Given the description of an element on the screen output the (x, y) to click on. 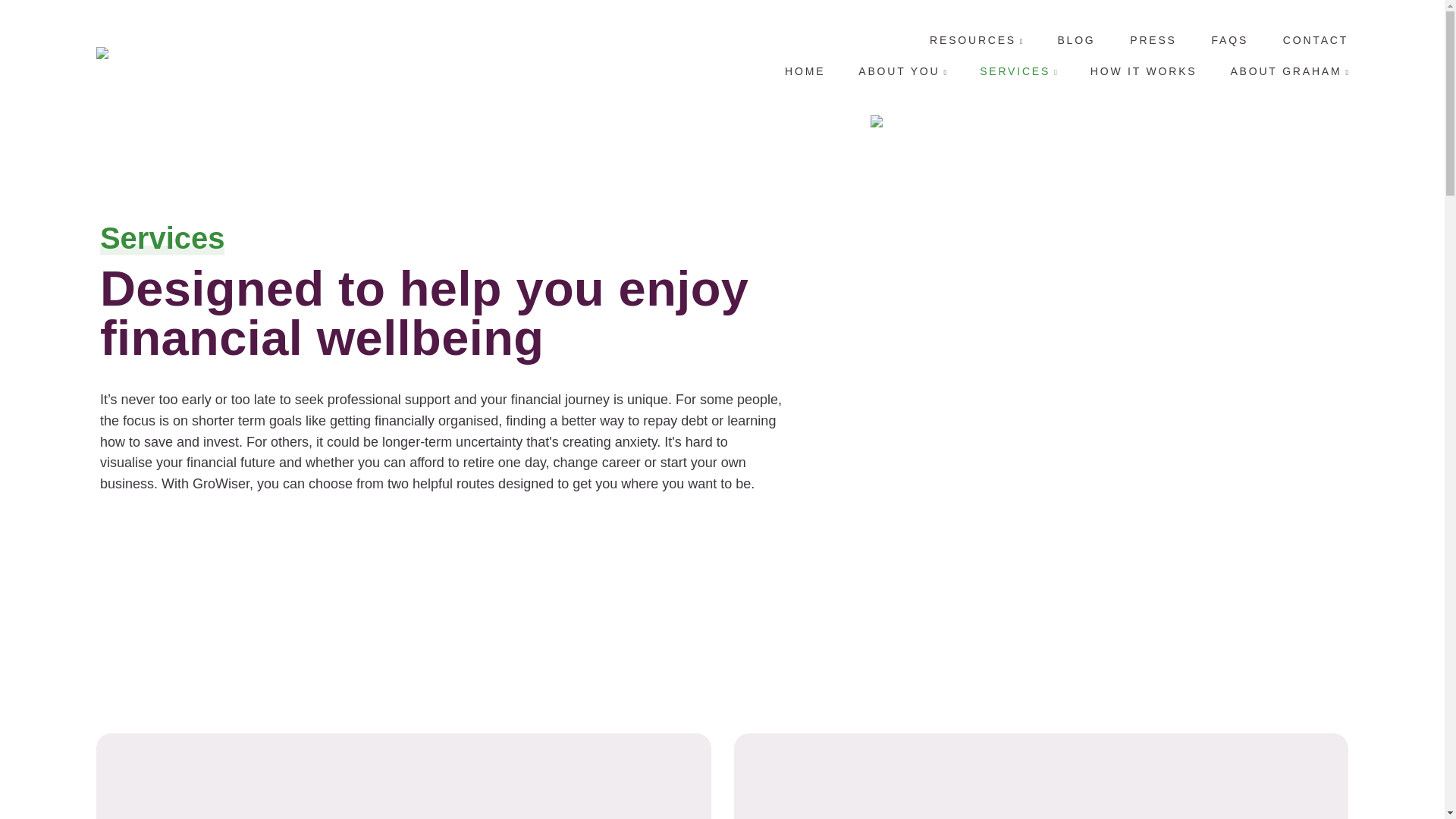
PRESS (1152, 39)
FAQS (1230, 39)
RESOURCES (973, 39)
HOME (804, 71)
ABOUT YOU (899, 71)
CONTACT (1315, 39)
ABOUT GRAHAM (1285, 71)
HOW IT WORKS (1143, 71)
SERVICES (1014, 71)
BLOG (1075, 39)
